Given the description of an element on the screen output the (x, y) to click on. 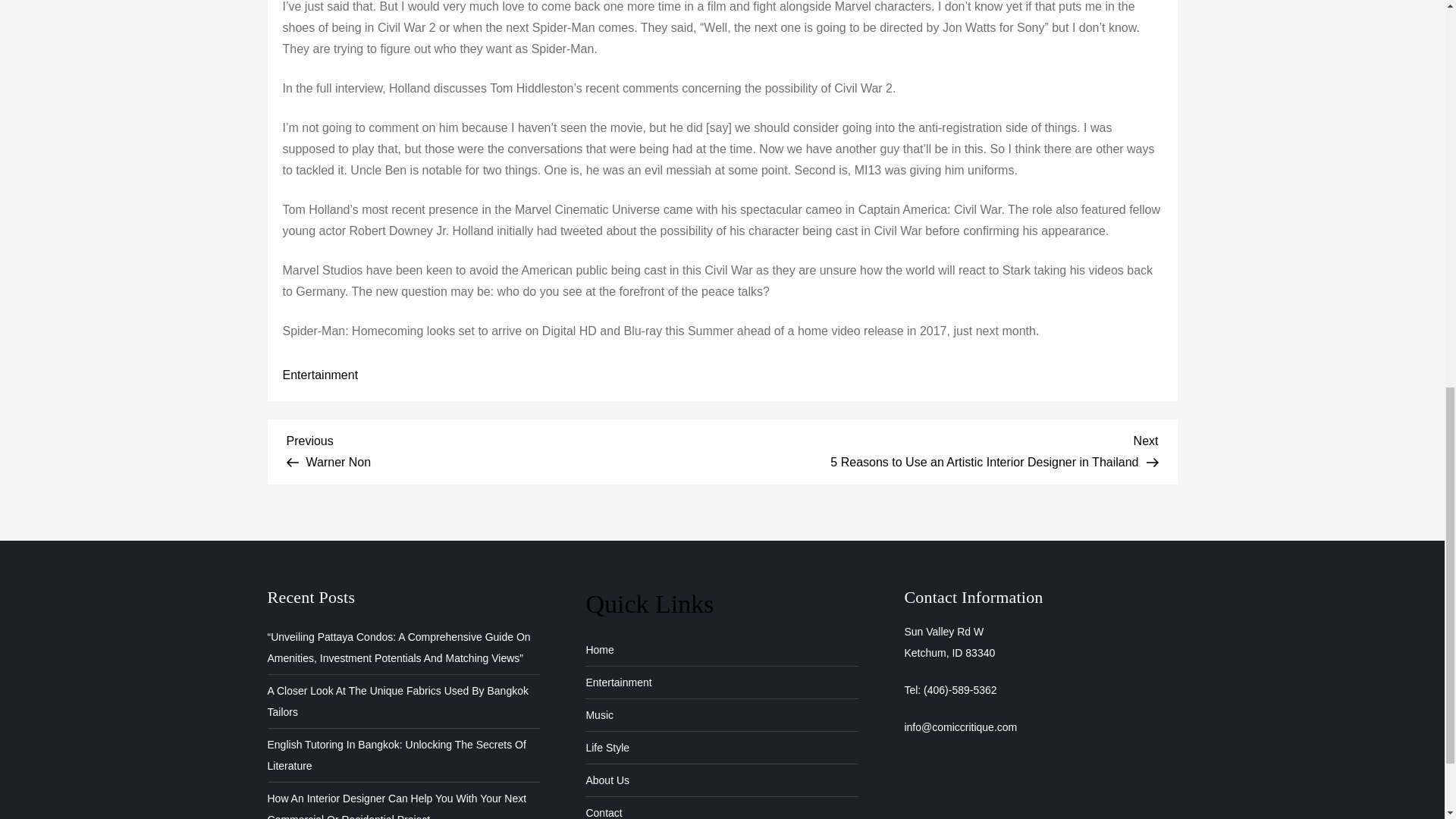
Entertainment (320, 375)
Music (598, 714)
Contact (603, 810)
A Closer Look At The Unique Fabrics Used By Bangkok Tailors (403, 701)
Life Style (504, 449)
About Us (606, 747)
Home (606, 780)
